Given the description of an element on the screen output the (x, y) to click on. 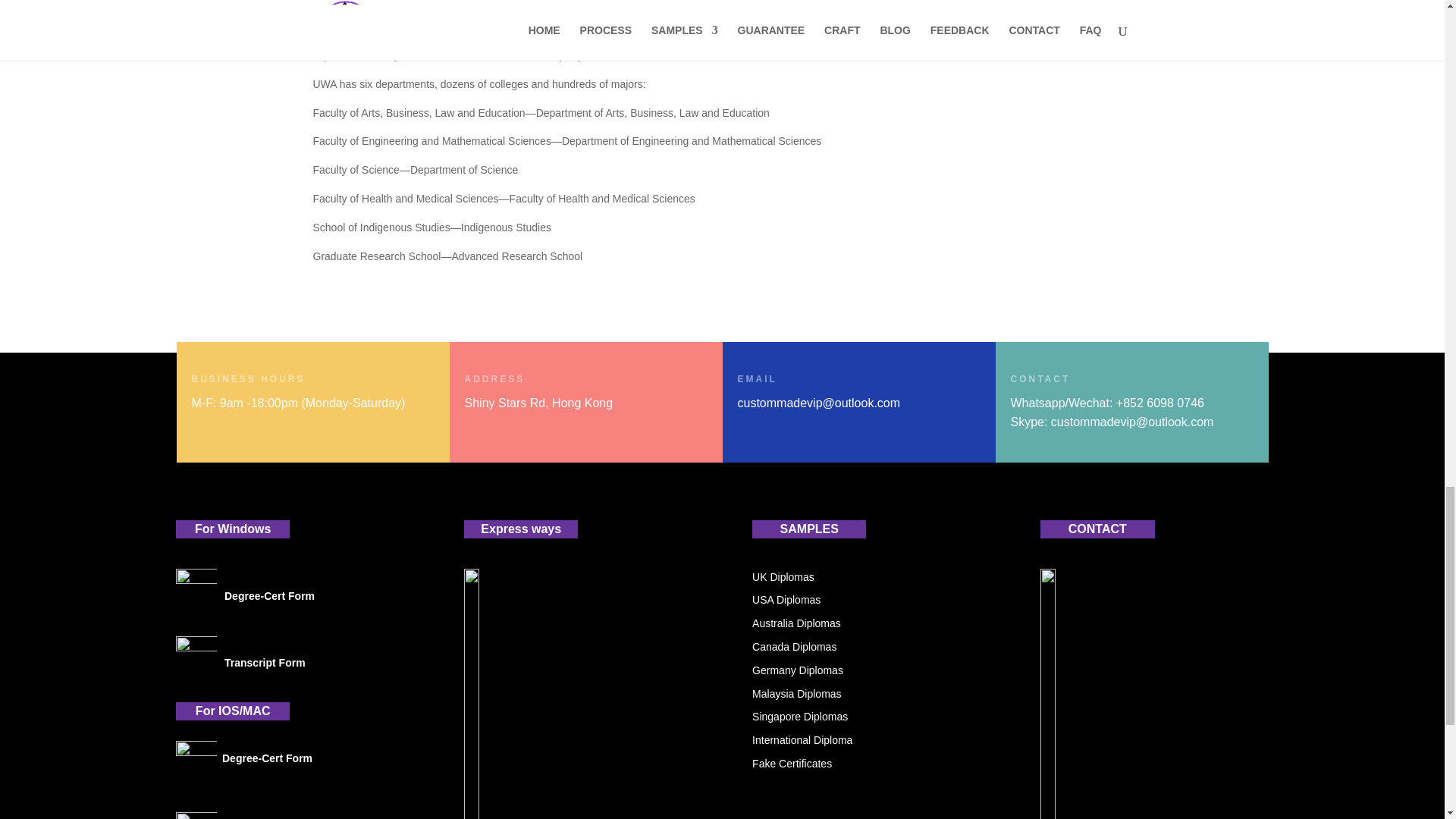
International Diploma (801, 739)
UK Diplomas (782, 576)
Canada Diplomas (793, 646)
Malaysia Diplomas (796, 693)
111 (196, 815)
110 (196, 656)
110 (196, 588)
USA Diplomas (786, 599)
kuaidi1 (536, 693)
Fake Certificates (791, 763)
Australia Diplomas (796, 623)
111 (196, 761)
Singapore Diplomas (799, 716)
Germany Diplomas (797, 670)
wx (1113, 693)
